Given the description of an element on the screen output the (x, y) to click on. 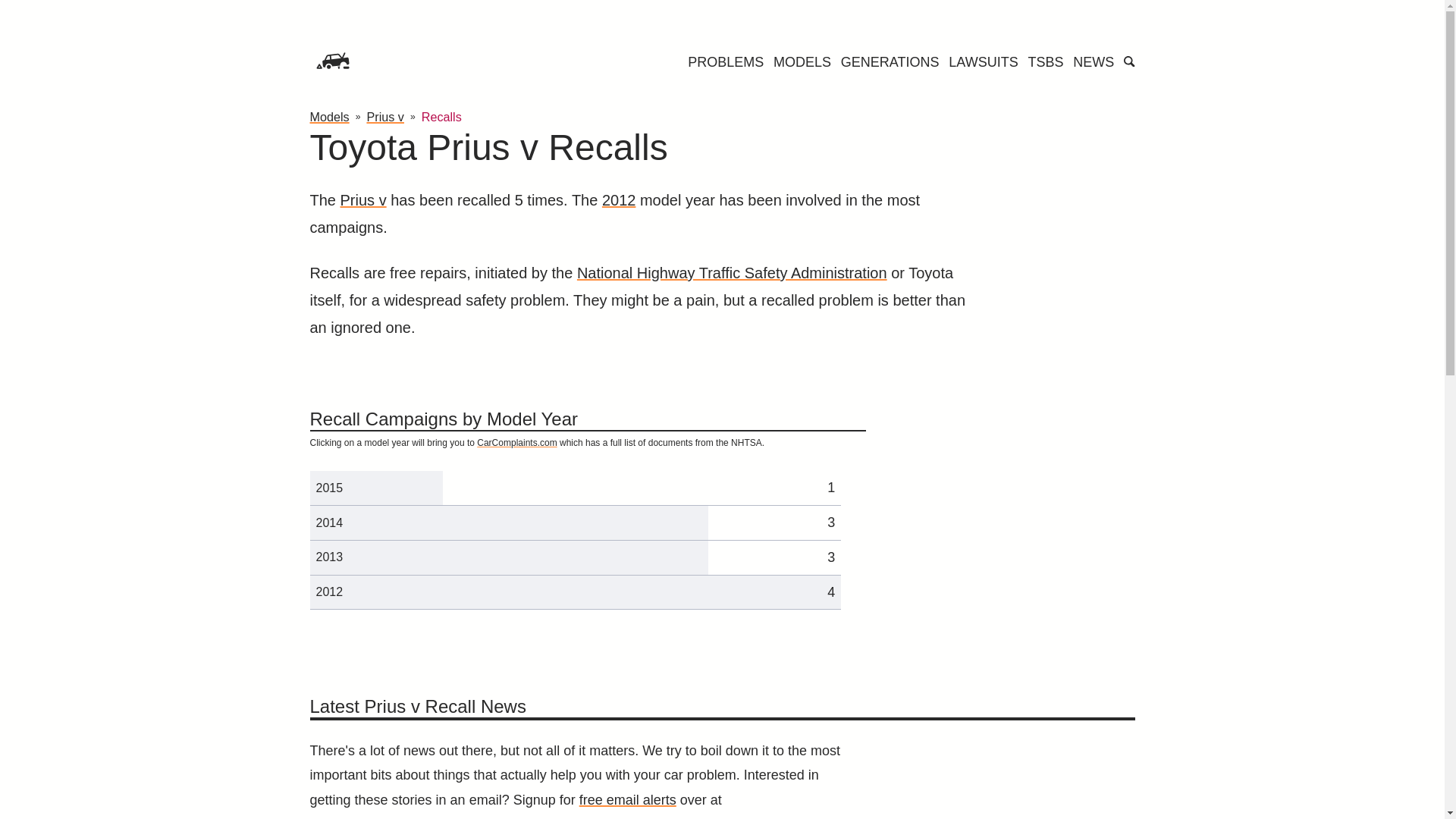
2012 (619, 199)
LAWSUITS (983, 61)
free email alerts (628, 799)
Prius v (384, 116)
2015 (328, 487)
Recalls (441, 116)
Vehicle email alerts (628, 799)
PROBLEMS (724, 61)
GENERATIONS (890, 61)
Prius v (363, 199)
